Given the description of an element on the screen output the (x, y) to click on. 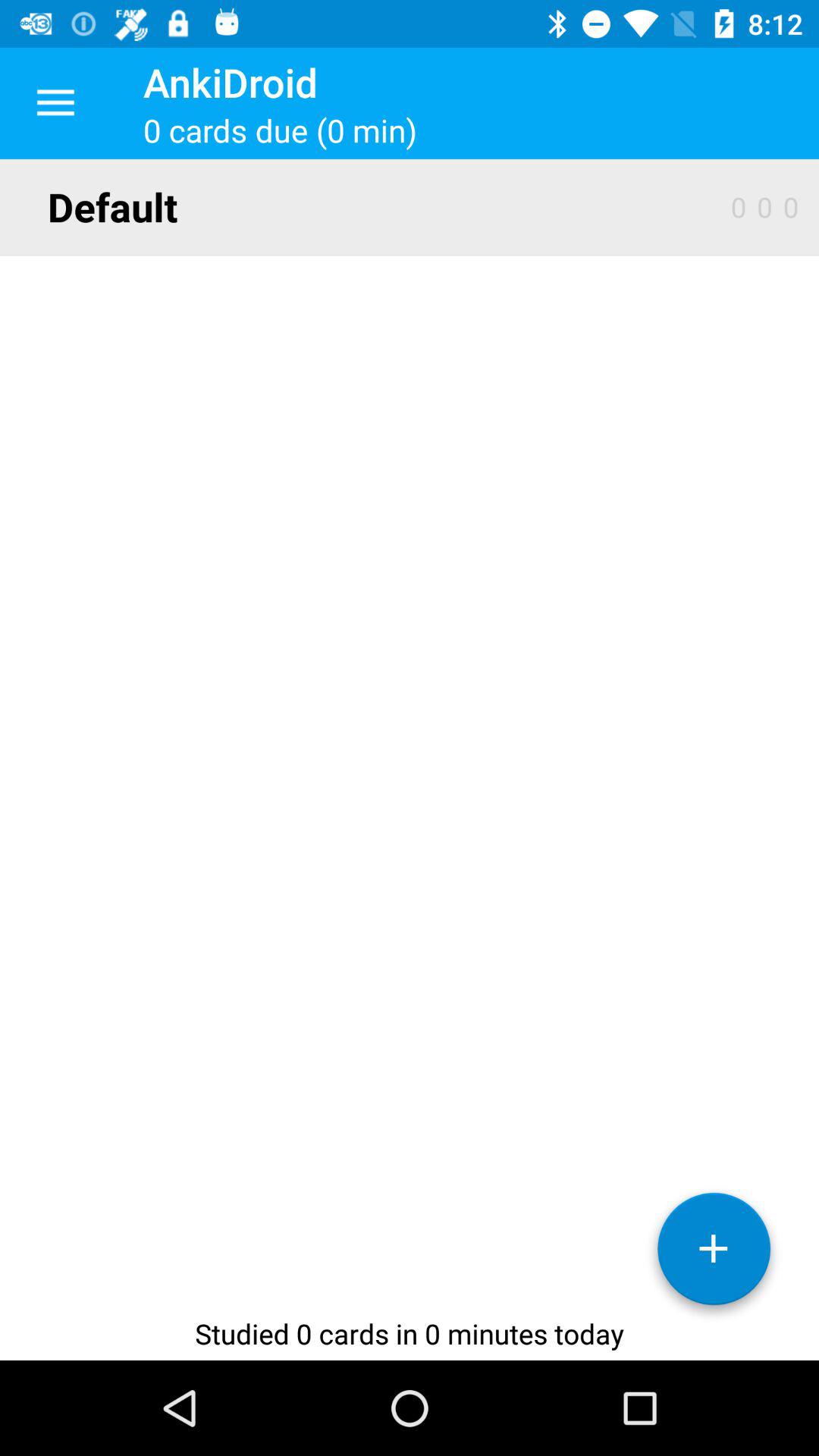
open the icon above the default (55, 103)
